Given the description of an element on the screen output the (x, y) to click on. 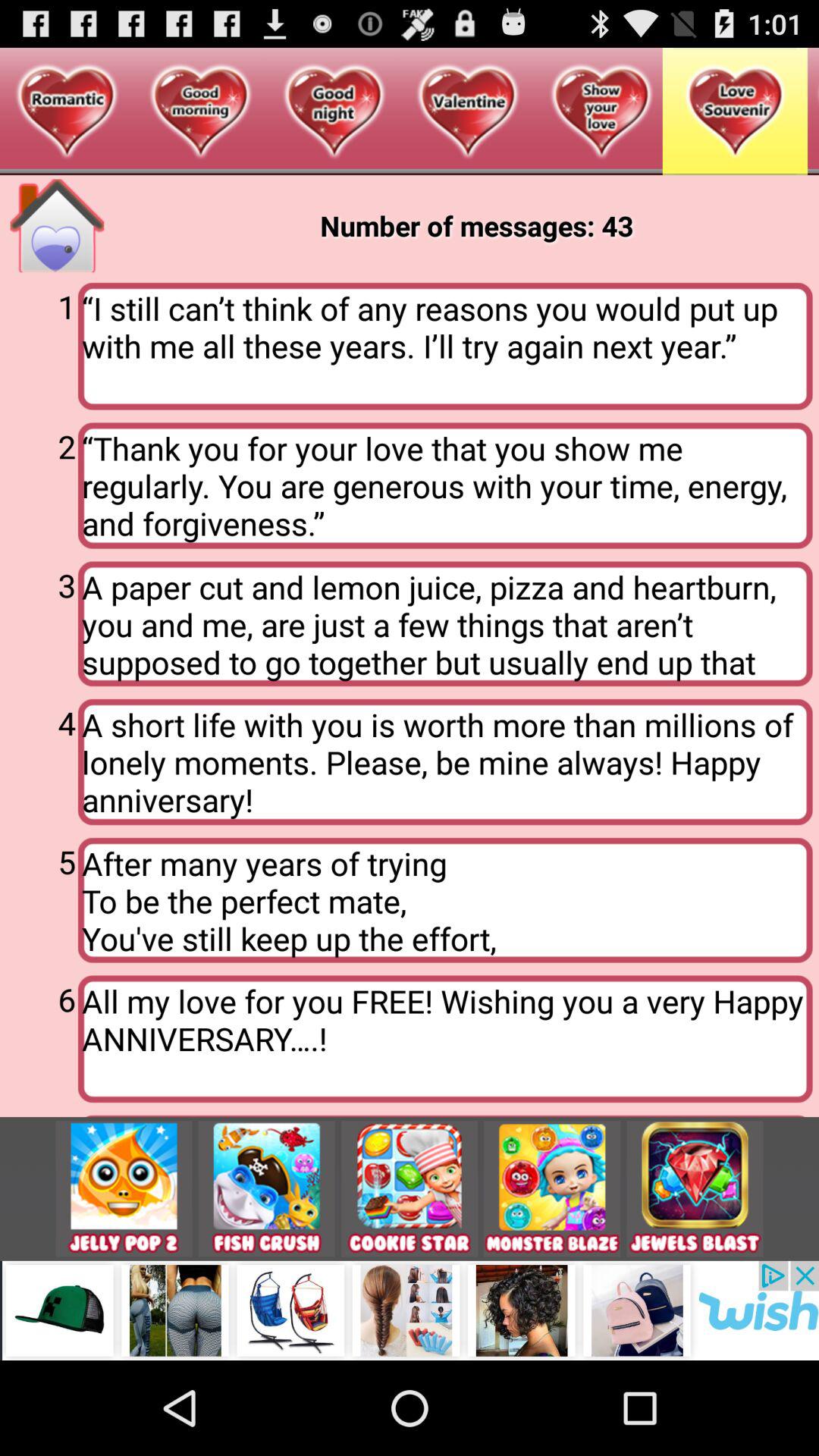
click on the heart symbol from the left (66, 112)
click on the first image at the bottom of the page (124, 1189)
click on the home icon at the top left corner of the page (57, 225)
